Given the description of an element on the screen output the (x, y) to click on. 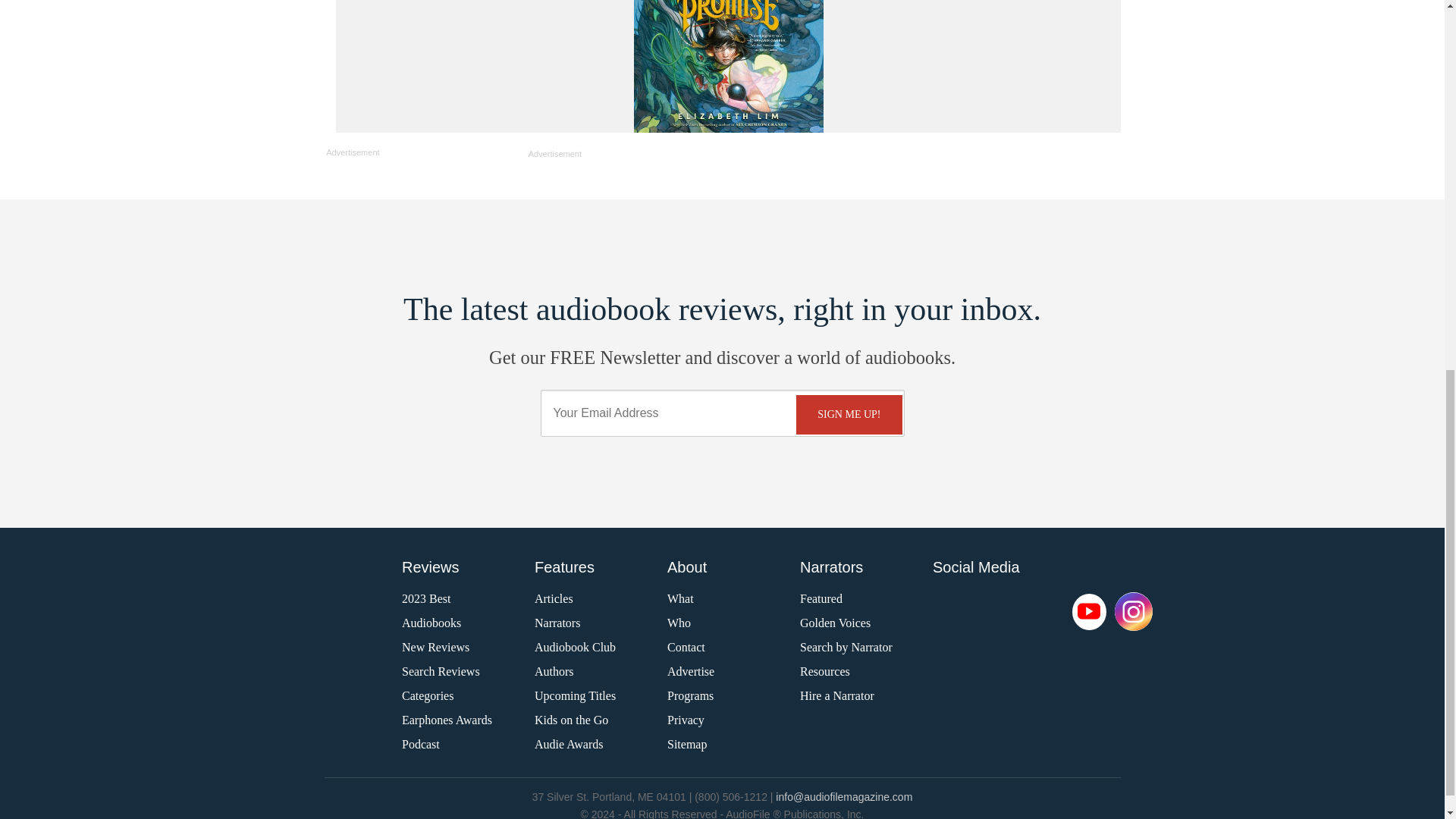
Podcast (1047, 611)
Instagram (1134, 612)
Sign Me Up! (848, 414)
YouTube (1088, 611)
Twitter (999, 611)
Facebook (951, 611)
